Given the description of an element on the screen output the (x, y) to click on. 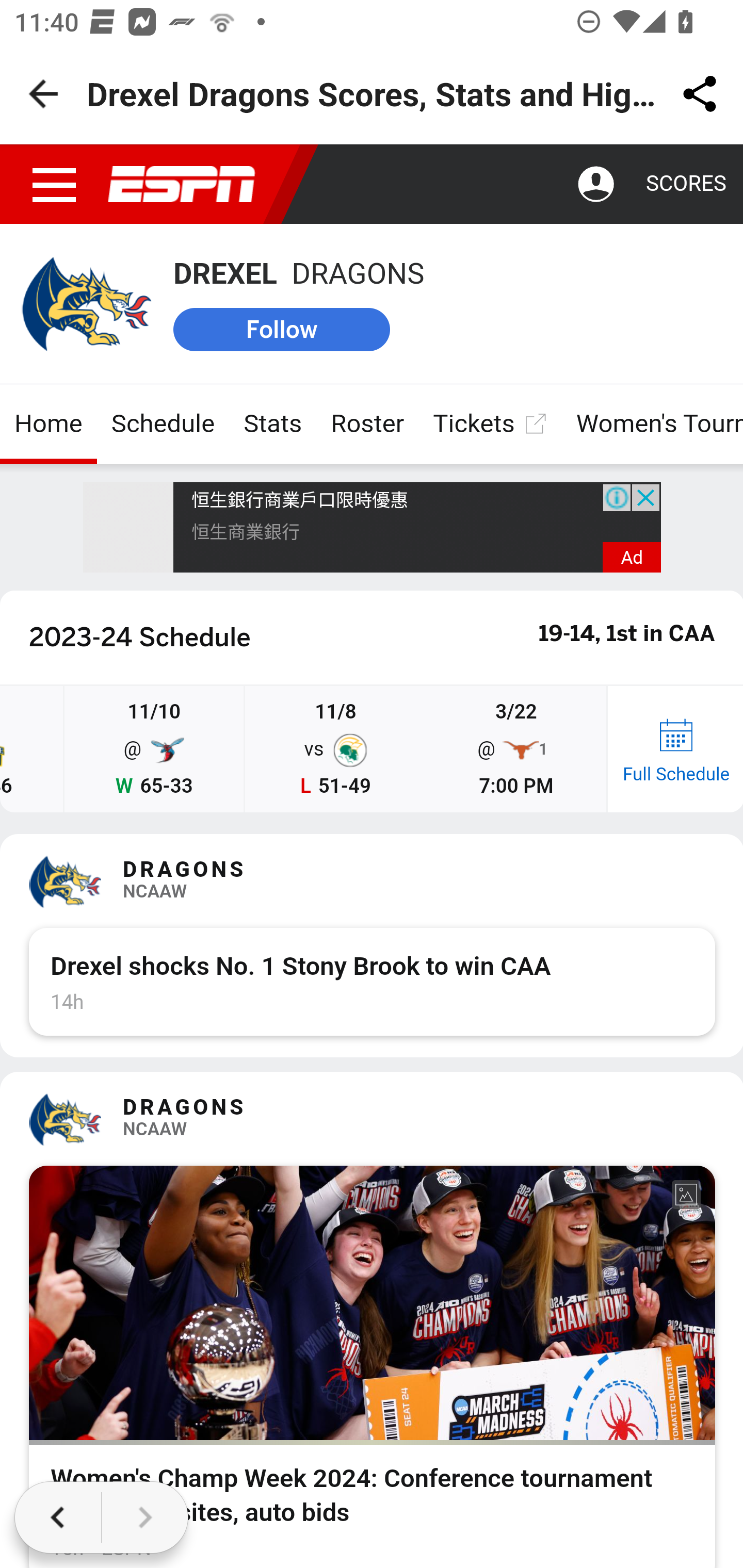
Menu (54, 184)
ESPN Home Page (182, 184)
Profile Management (596, 184)
SCORES (685, 184)
Dragons (86, 304)
Follow (282, 329)
Home (48, 423)
Schedule (163, 423)
Stats (272, 423)
Roster (367, 423)
Tickets External Link Tickets External Link (489, 423)
Women's Tournament Challenge (651, 423)
恒生銀行商業戶口限時優惠 (300, 500)
恒生商業銀行 (246, 531)
11/10 @ W 65-33 11/10 @ W 65-33 (154, 749)
11/8 vs L 51-49 11/8 vs L 51-49 (335, 749)
3/22 @ 1 7:00 PM 3/22 @ 1 7:00 PM (515, 749)
Full Schedule (673, 749)
